Given the description of an element on the screen output the (x, y) to click on. 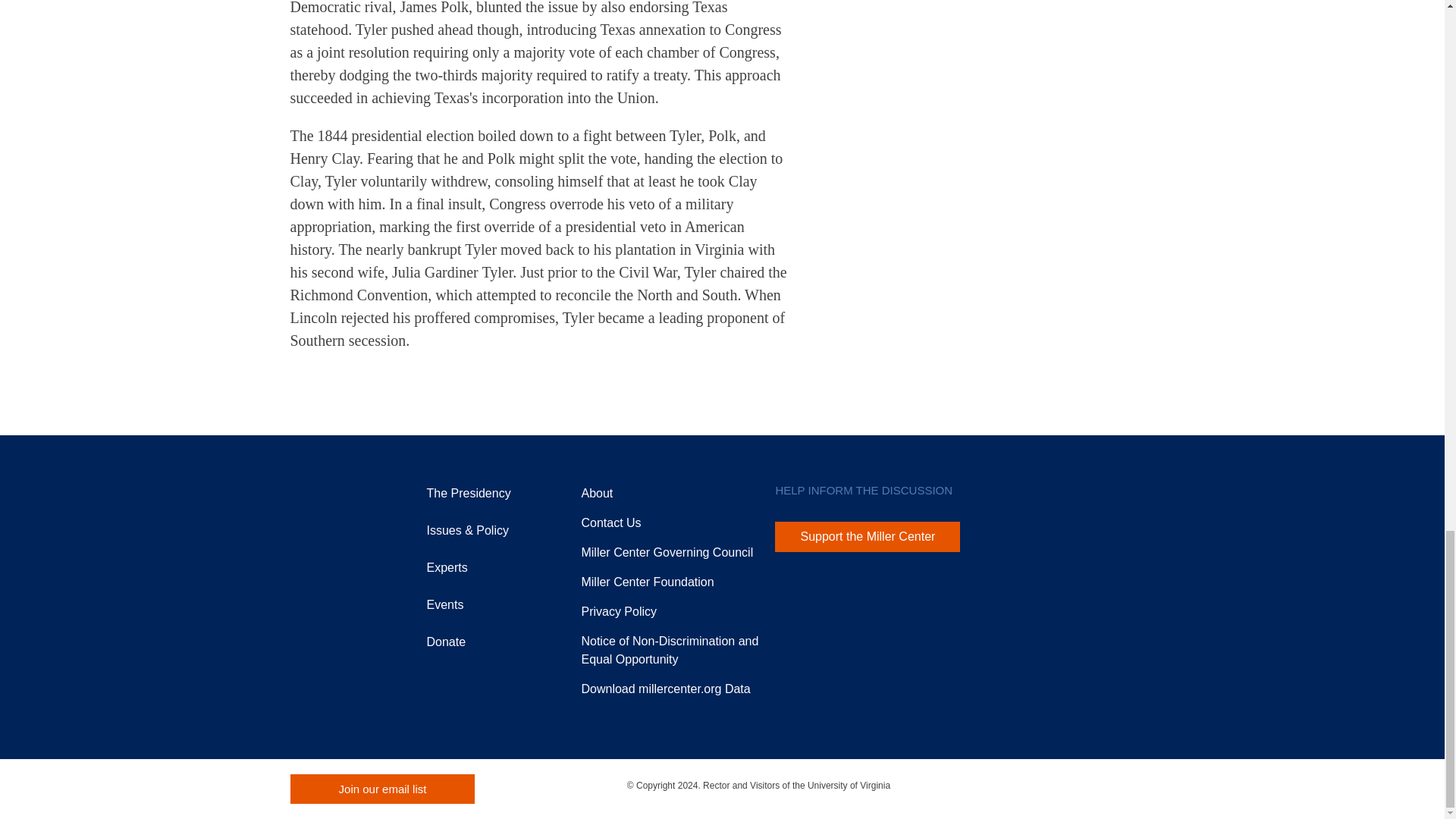
Miller Center Web Privacy Policy (618, 611)
Support (646, 581)
Home (321, 515)
